Given the description of an element on the screen output the (x, y) to click on. 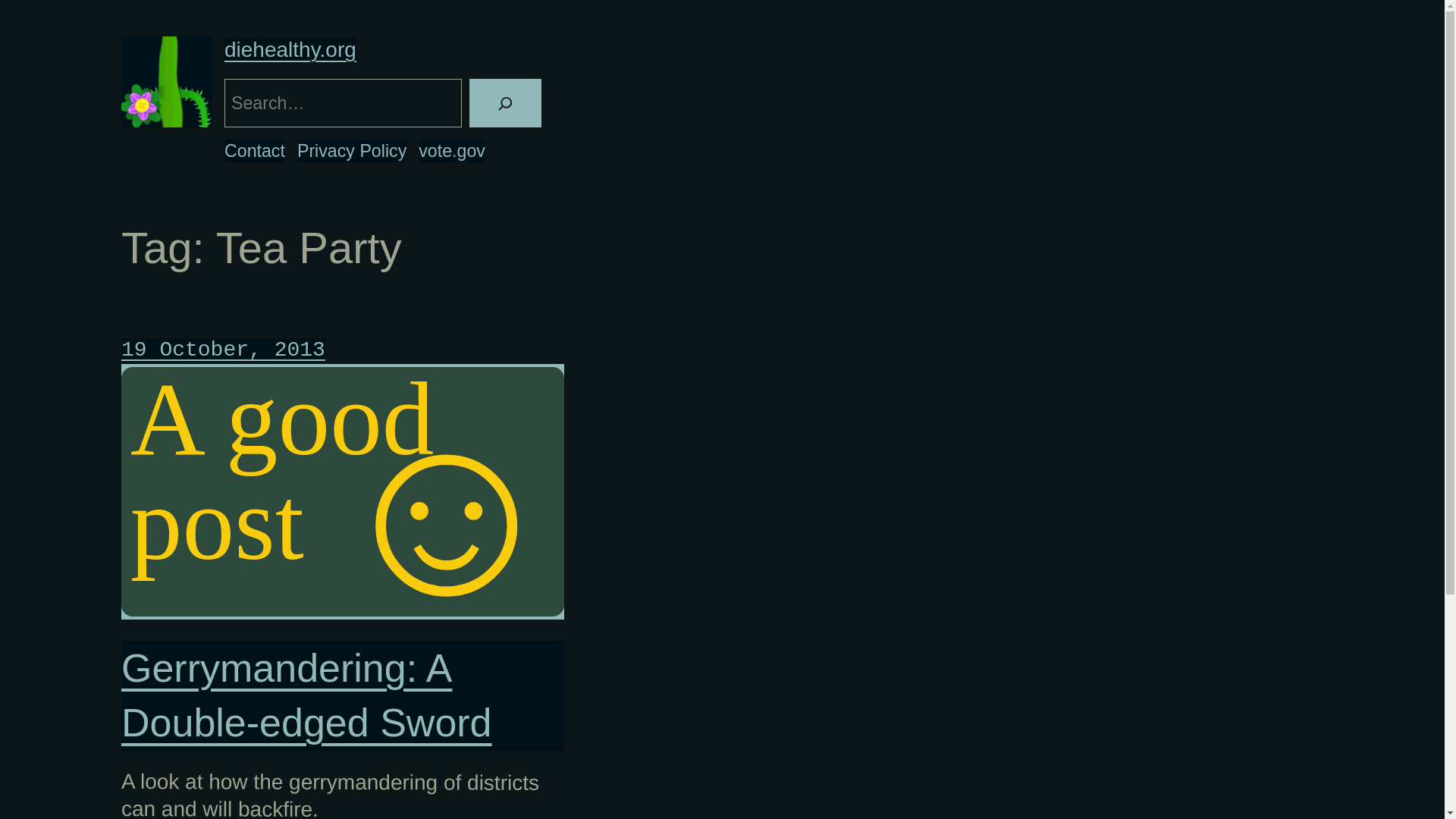
vote.gov (451, 150)
diehealthy.org (290, 49)
19 October, 2013 (222, 349)
Privacy Policy (351, 150)
Contact (254, 150)
Gerrymandering: A Double-edged Sword (342, 695)
